Given the description of an element on the screen output the (x, y) to click on. 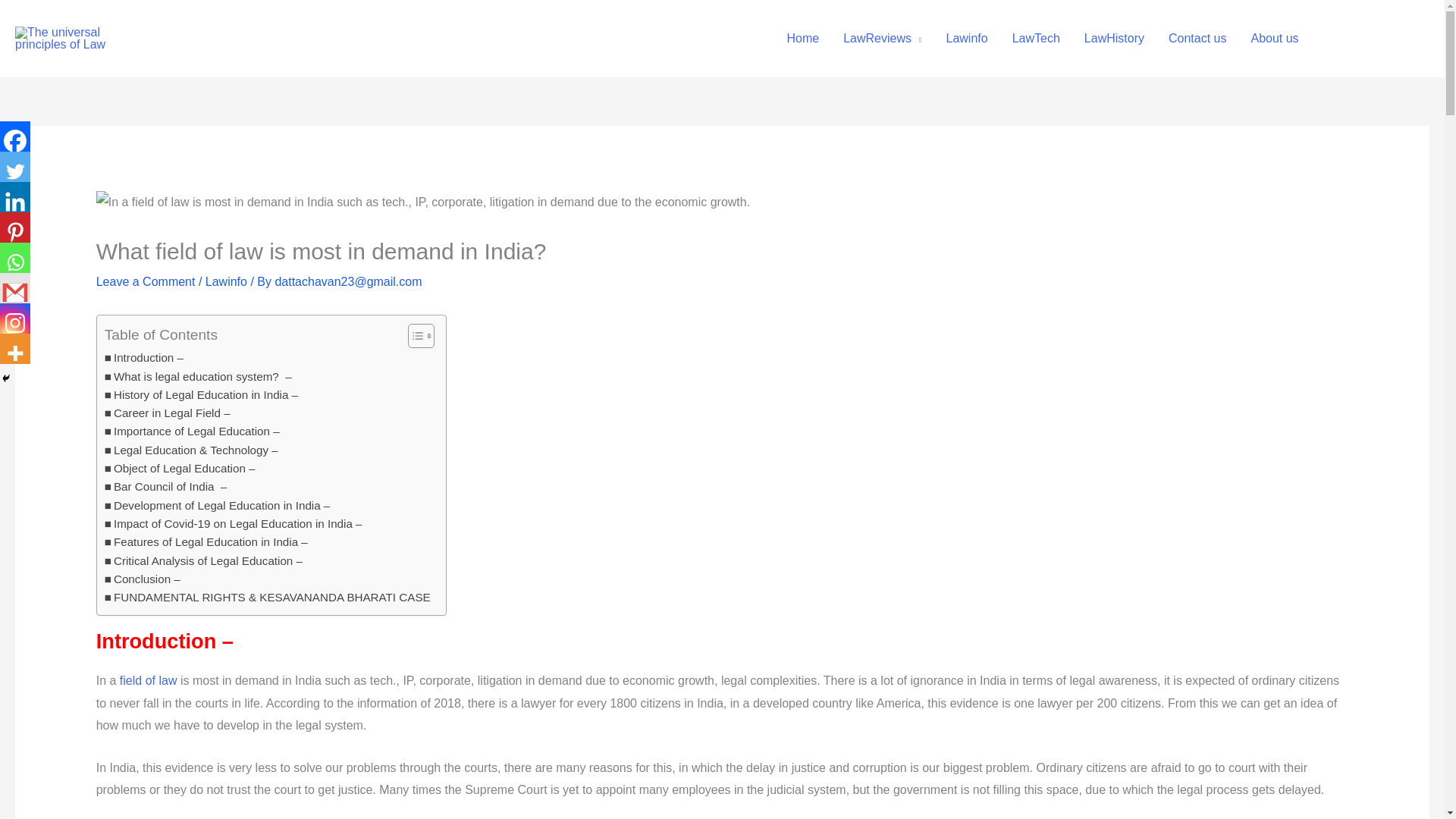
Leave a Comment (145, 281)
LawTech (1035, 38)
Get A Quote (1377, 38)
Lawinfo (967, 38)
About us (1274, 38)
LawReviews (882, 38)
Contact us (1197, 38)
LawHistory (1113, 38)
Lawinfo (226, 281)
Home (802, 38)
field of law (148, 680)
